Given the description of an element on the screen output the (x, y) to click on. 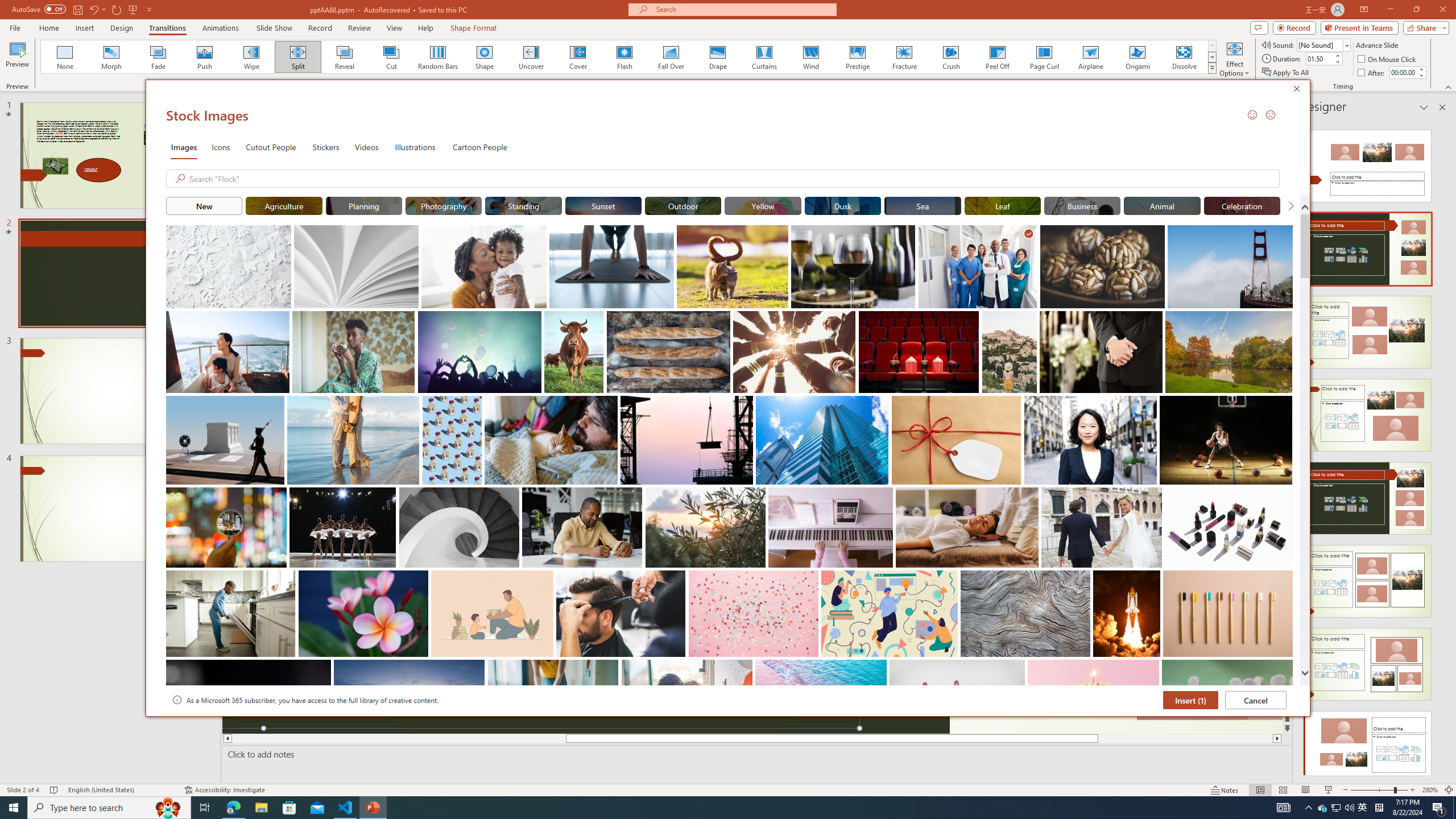
"Yellow" Stock Images. (762, 205)
Zoom to Fit  (1449, 790)
Videos (366, 146)
Page Curl (1043, 56)
Zoom (1379, 790)
Running applications (700, 807)
From Beginning (133, 9)
File Tab (15, 27)
Random Bars (437, 56)
Images (183, 146)
Effect Options (1234, 58)
Sound (1324, 44)
